Given the description of an element on the screen output the (x, y) to click on. 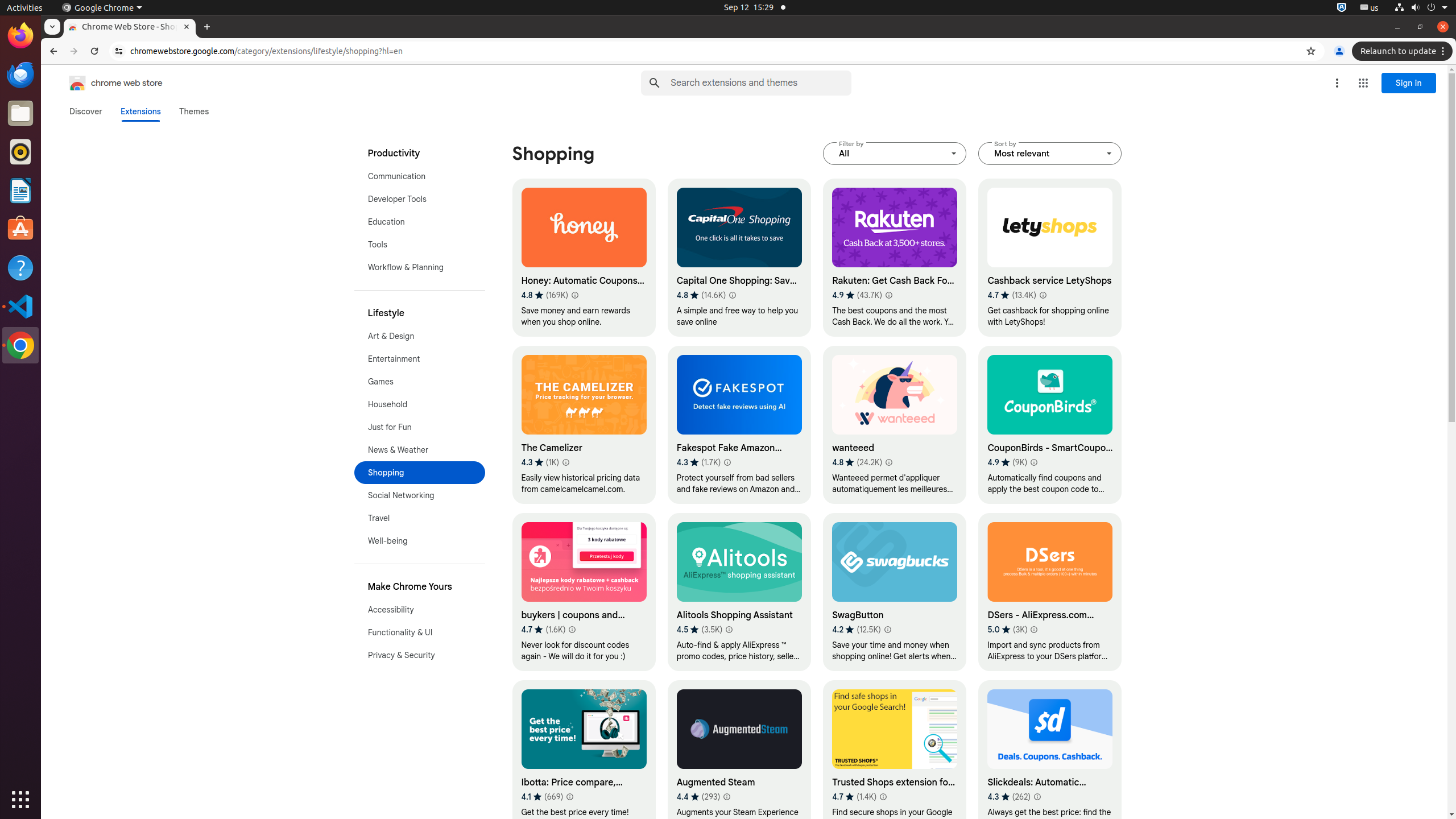
The Camelizer Element type: link (583, 424)
Fakespot Fake Amazon Reviews and eBay Sellers Element type: link (739, 424)
New Tab Element type: push-button (206, 26)
Google Chrome Element type: menu (101, 7)
Communication Element type: menu-item (419, 175)
